Given the description of an element on the screen output the (x, y) to click on. 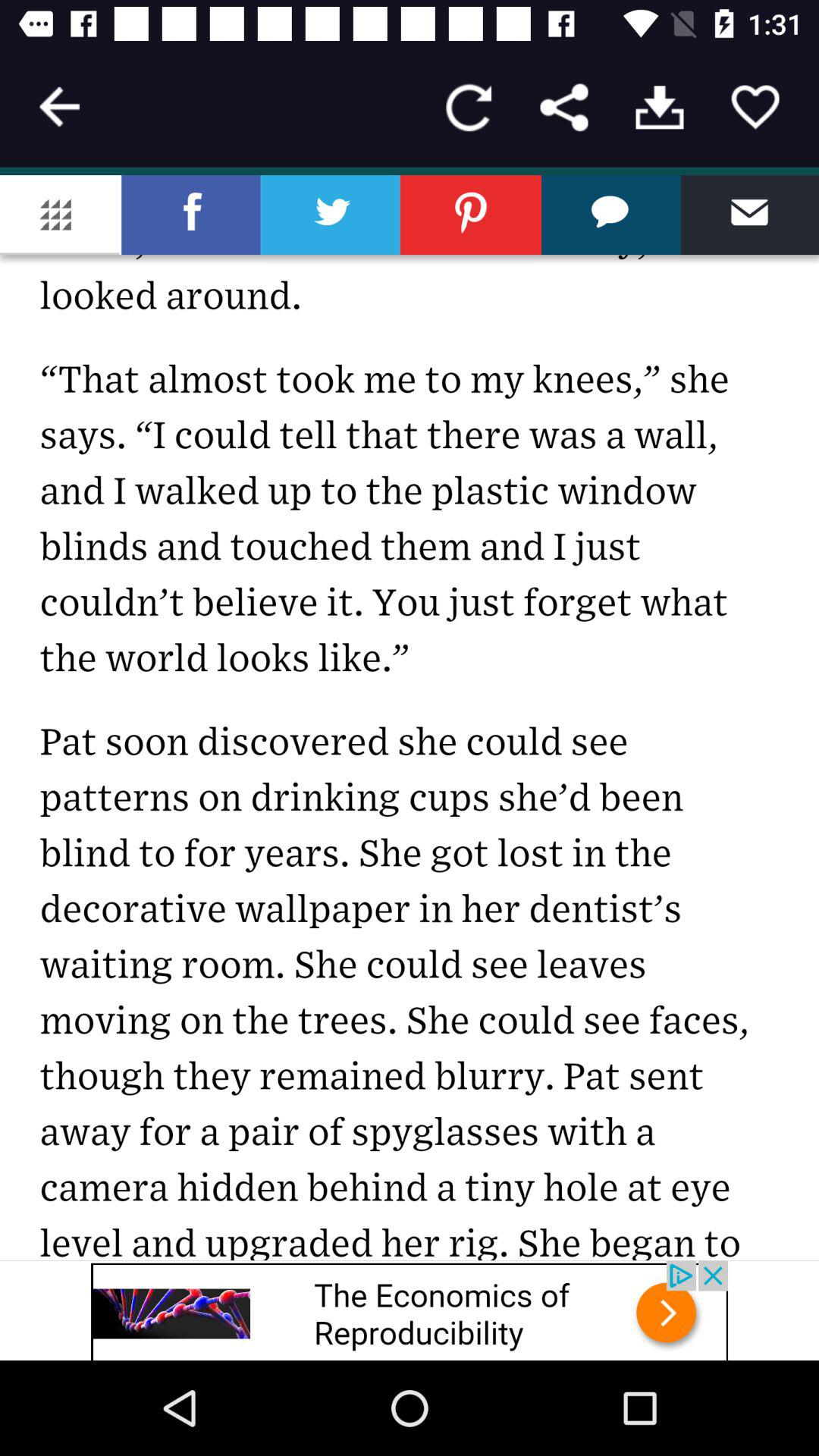
go back (59, 106)
